Given the description of an element on the screen output the (x, y) to click on. 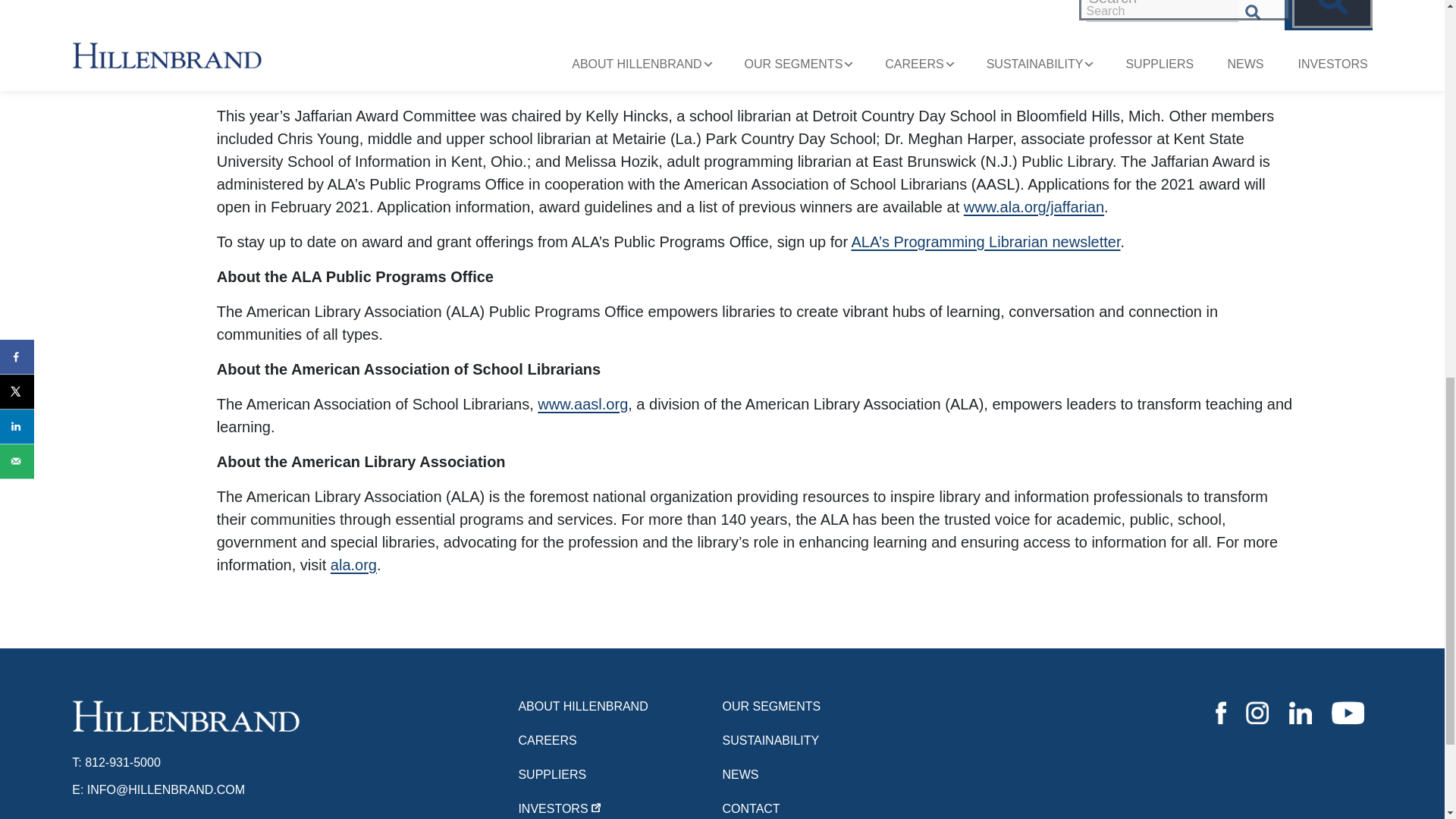
812-931-5000 (122, 762)
CAREERS (620, 740)
SUSTAINABILITY (824, 740)
www.aasl.org (582, 403)
ala.org (353, 564)
SUPPLIERS (620, 775)
NEWS (824, 775)
ABOUT HILLENBRAND (620, 706)
OUR SEGMENTS (824, 706)
INVESTORS (620, 808)
